Given the description of an element on the screen output the (x, y) to click on. 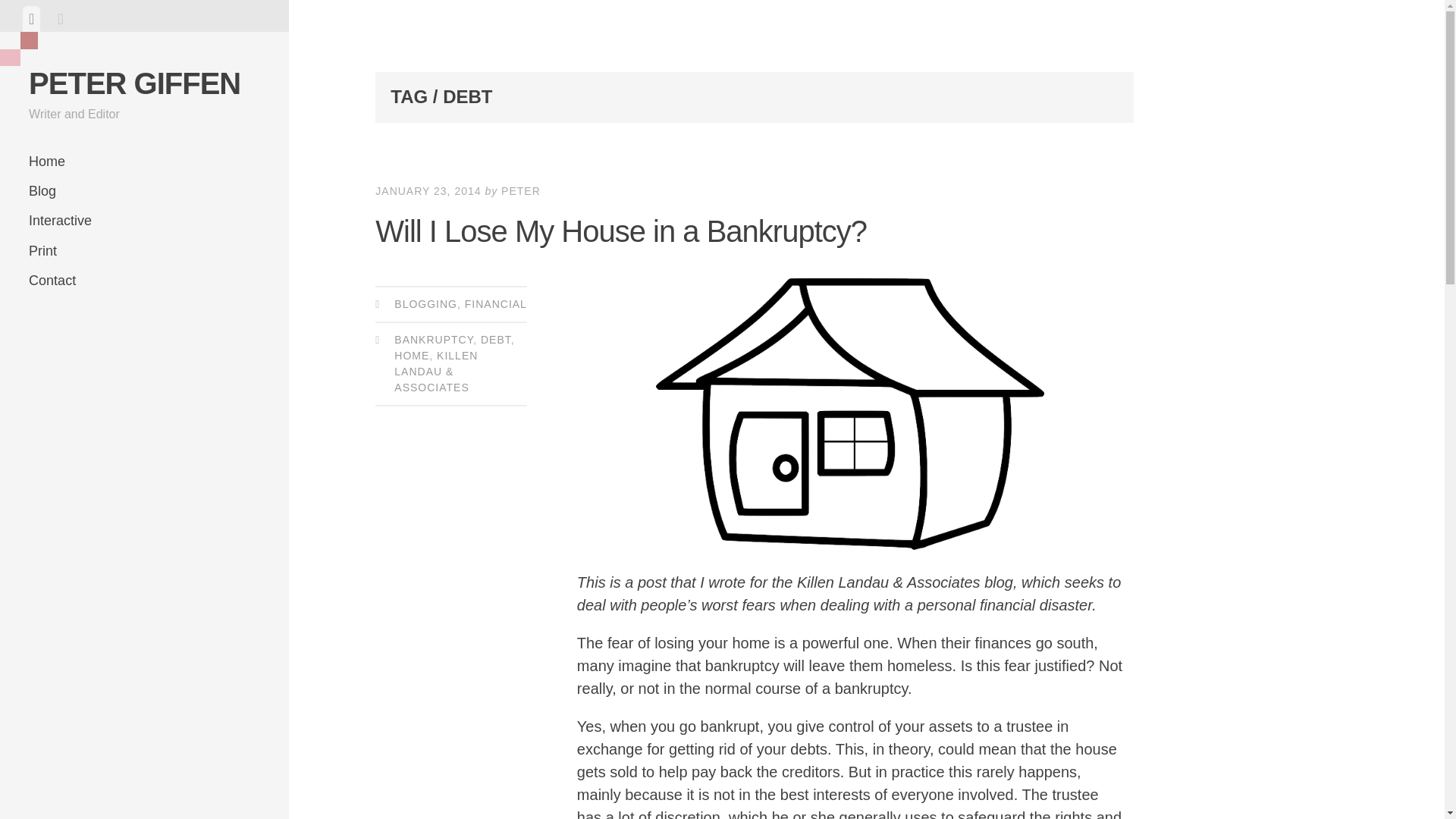
Home (144, 161)
Blog (144, 191)
Interactive (144, 220)
View menu (31, 18)
BANKRUPTCY (433, 339)
Print (144, 251)
Will I Lose My House in a Bankruptcy? (620, 231)
PETER GIFFEN (134, 82)
Contact (144, 280)
FINANCIAL (495, 304)
JANUARY 23, 2014 (427, 191)
PETER (520, 191)
View sidebar (60, 18)
BLOGGING (425, 304)
